Given the description of an element on the screen output the (x, y) to click on. 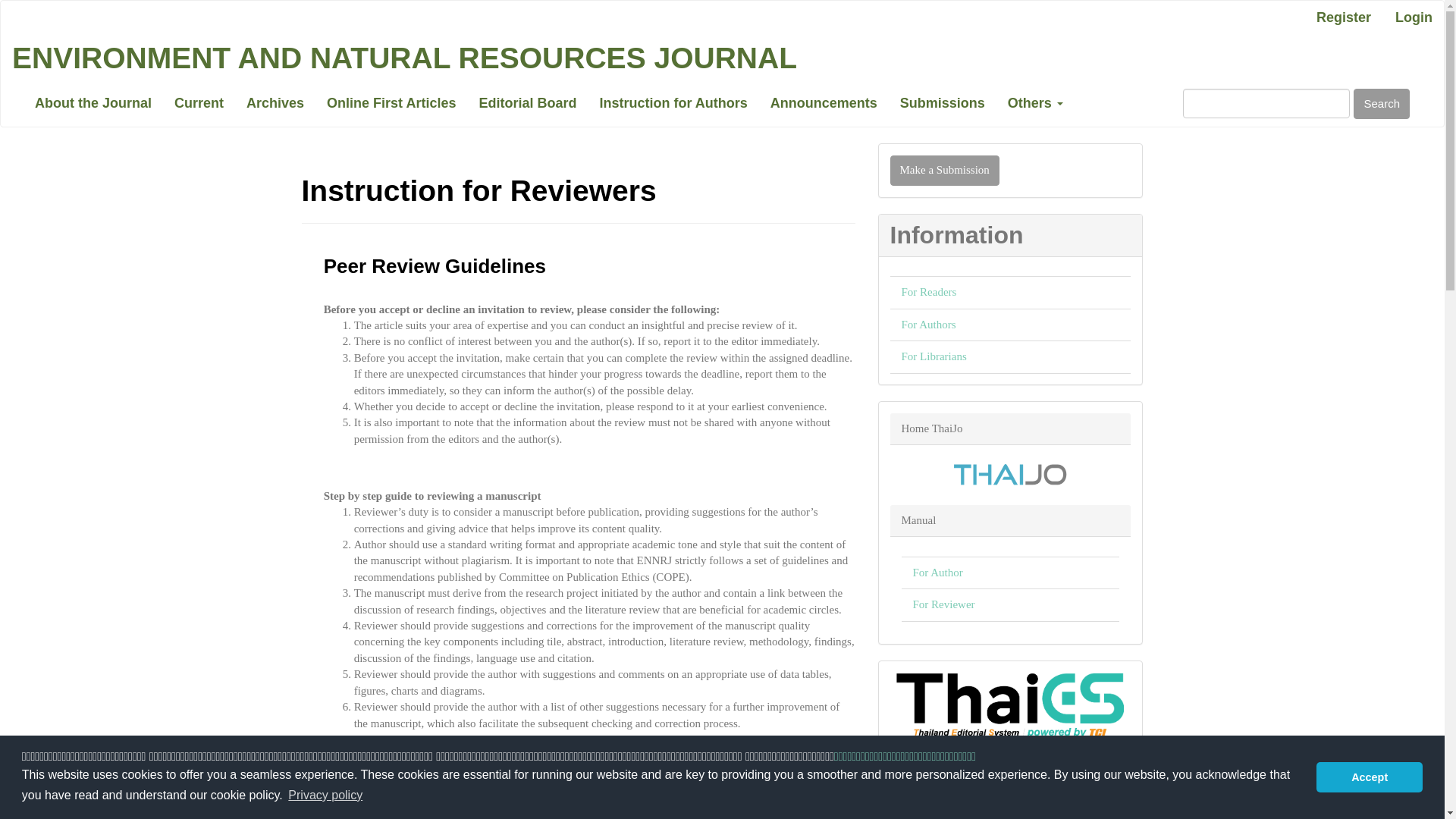
For Authors (928, 324)
About the Journal (93, 103)
Make a Submission (943, 170)
Online First Articles (391, 103)
home thaijo (1010, 473)
Register (1342, 18)
Search (1381, 102)
Editorial Board (527, 103)
ENVIRONMENT AND NATURAL RESOURCES JOURNAL (404, 58)
For Readers (928, 291)
For Librarians (933, 356)
Login (1414, 18)
Instruction for Authors (673, 103)
For Author (937, 572)
Submissions (941, 103)
